Given the description of an element on the screen output the (x, y) to click on. 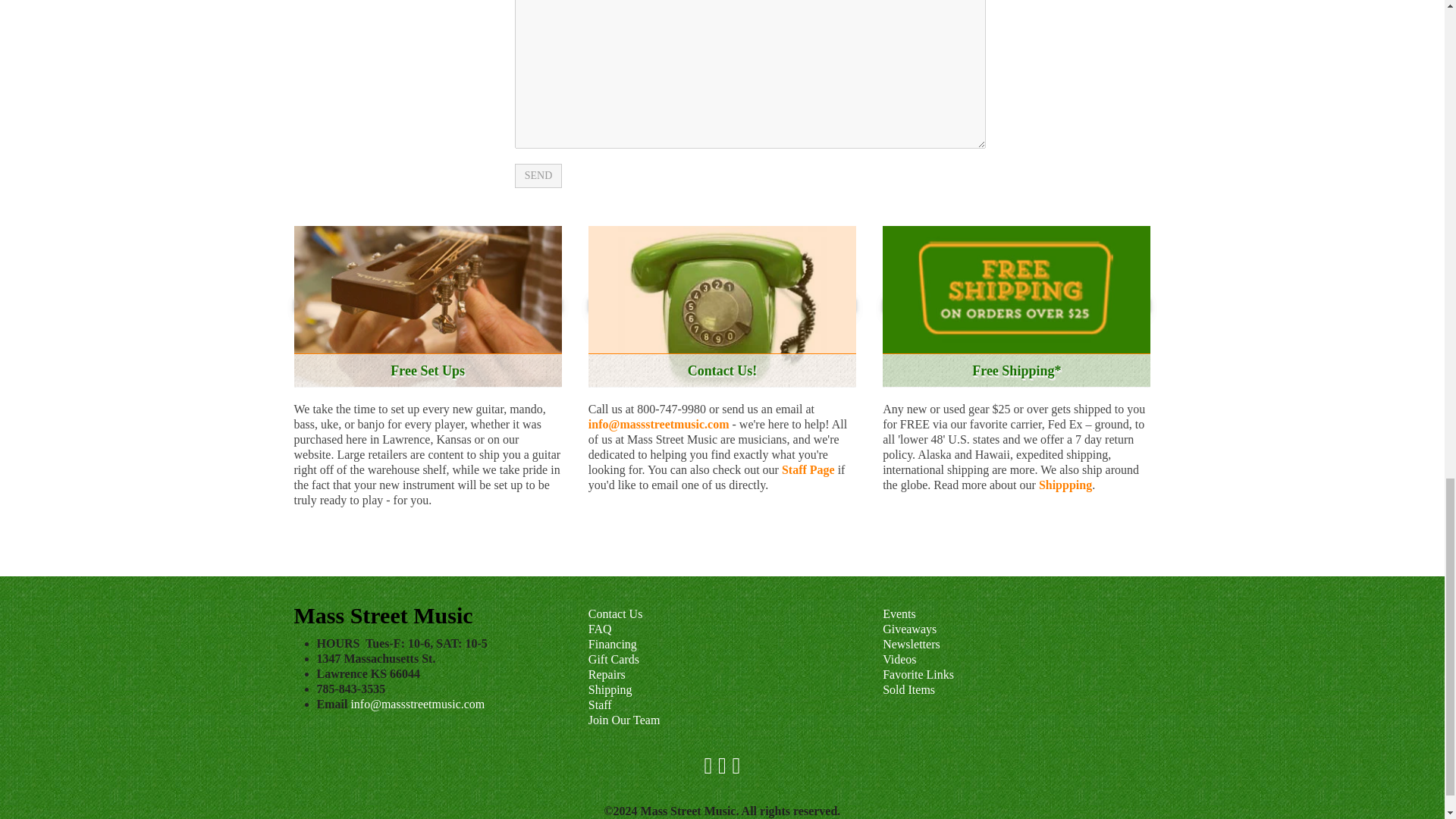
Financing at Mass Street Music (612, 644)
Youtube.com link to Mass Street Music videos (898, 658)
Shipping (609, 689)
Footer link to Repair page at Mass Street Music (607, 674)
Frequently Asked Questions at Mass Street Music (599, 628)
SEND (538, 175)
Join Our Team (624, 719)
Staff (599, 704)
Gift Cards at Mass Street Music (613, 658)
Contact Us (615, 613)
